Given the description of an element on the screen output the (x, y) to click on. 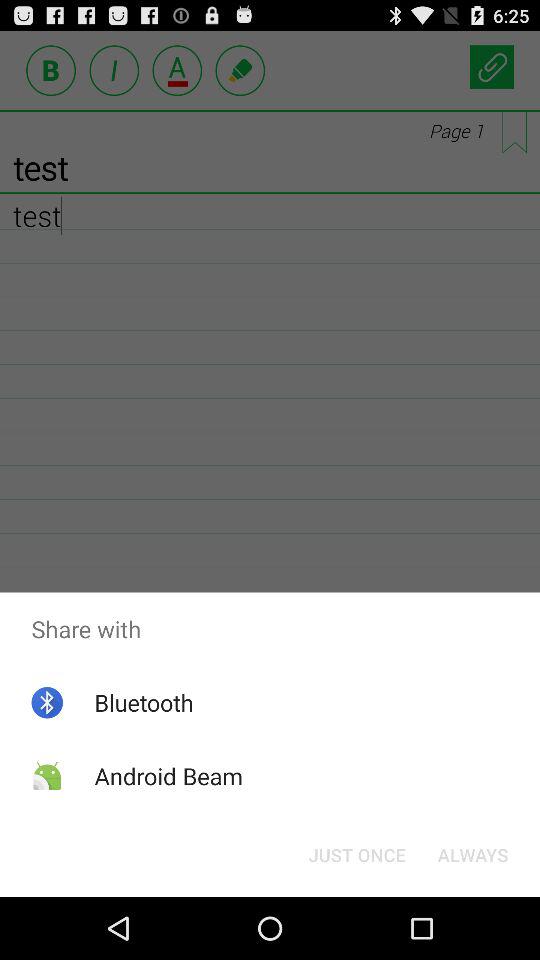
click the item next to just once item (472, 854)
